Given the description of an element on the screen output the (x, y) to click on. 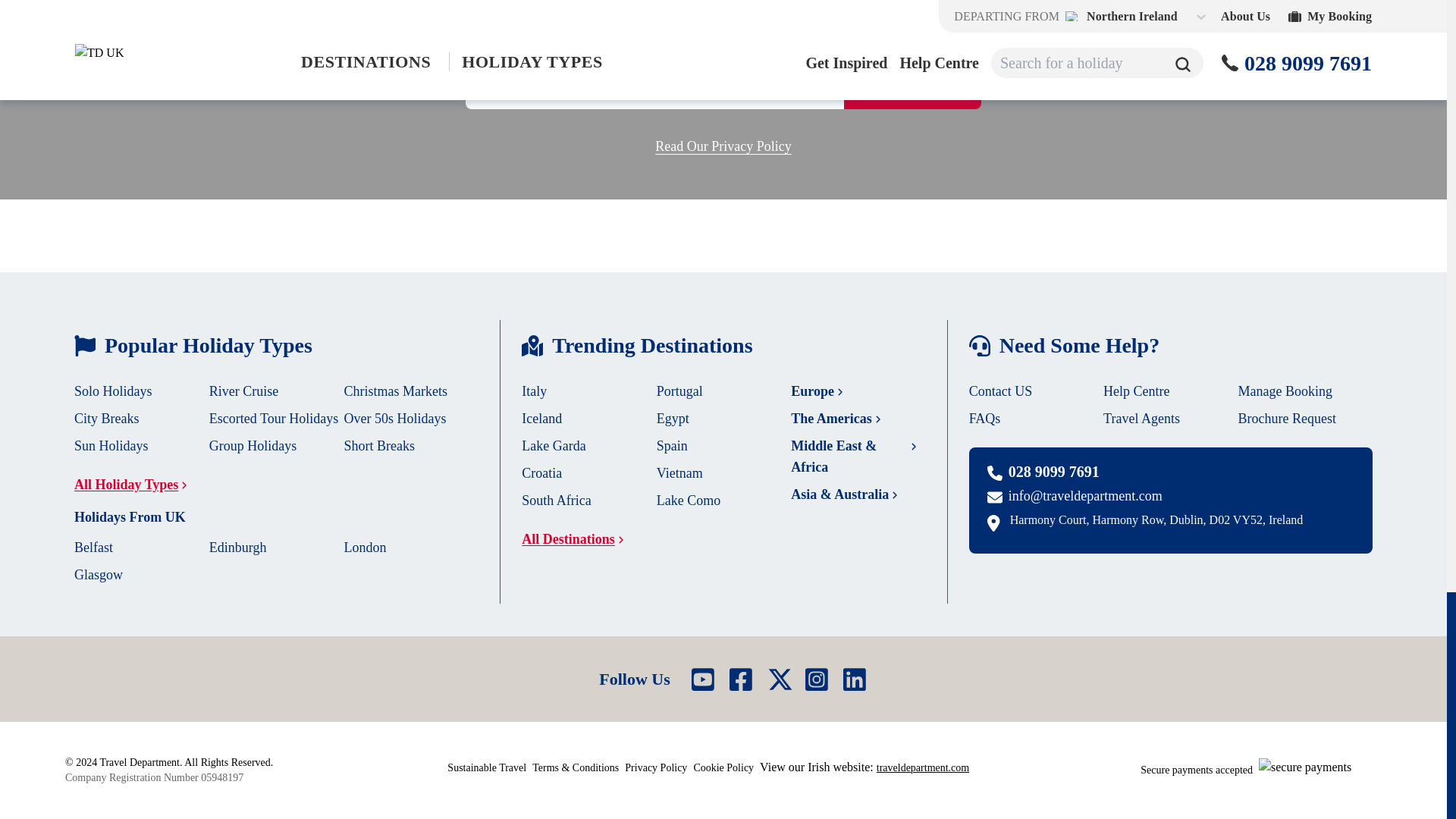
 Escorted Tour Holidays (273, 418)
River Cruise (244, 391)
Sun Holidays (111, 445)
Christmas Markets (395, 391)
River Cruise (244, 391)
Subscribe (912, 85)
Belfast (93, 547)
 Glasgow (98, 574)
Read Our Privacy Policy (722, 146)
 Over 50s Holidays (394, 418)
 City Breaks (106, 418)
Edinburgh (237, 547)
 Short Breaks (378, 445)
Popular Holiday Types (276, 345)
Group Holidays (253, 445)
